Given the description of an element on the screen output the (x, y) to click on. 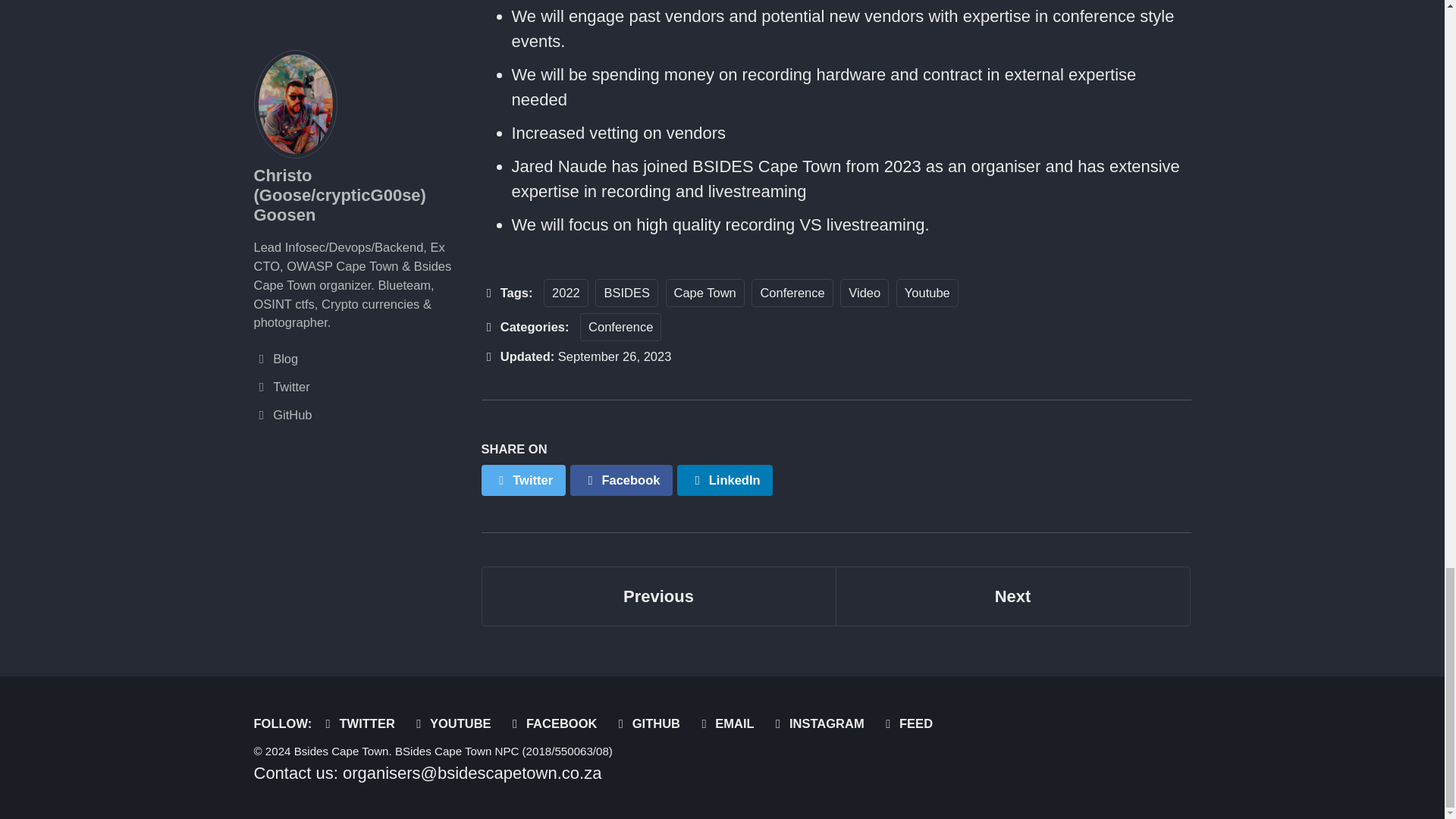
Twitter (522, 480)
Youtube (657, 596)
GITHUB (1013, 596)
Previous (927, 293)
FACEBOOK (649, 723)
BSIDES (657, 596)
LinkedIn (555, 723)
EMAIL (626, 293)
TWITTER (725, 480)
Conference (728, 723)
YOUTUBE (361, 723)
Cape Town (791, 293)
Next (454, 723)
